Given the description of an element on the screen output the (x, y) to click on. 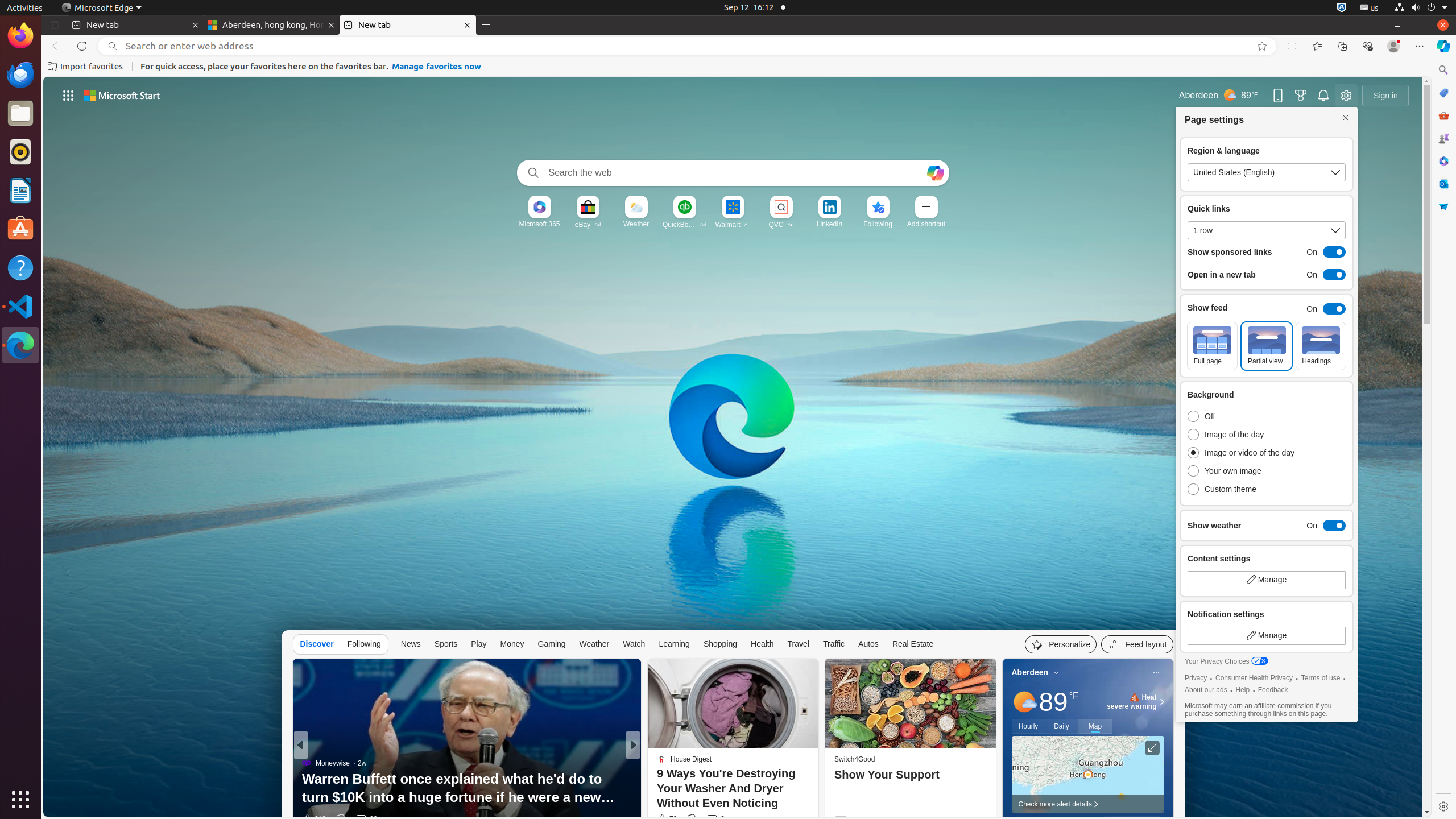
Aberdeen: Heat Severe, Mostly sunny, 89 °F Element type: link (1217, 95)
Mostly sunny Element type: link (1023, 701)
Consumer Health Privacy Element type: link (1254, 677)
Tools Element type: push-button (1443, 115)
Files Element type: push-button (20, 113)
